Given the description of an element on the screen output the (x, y) to click on. 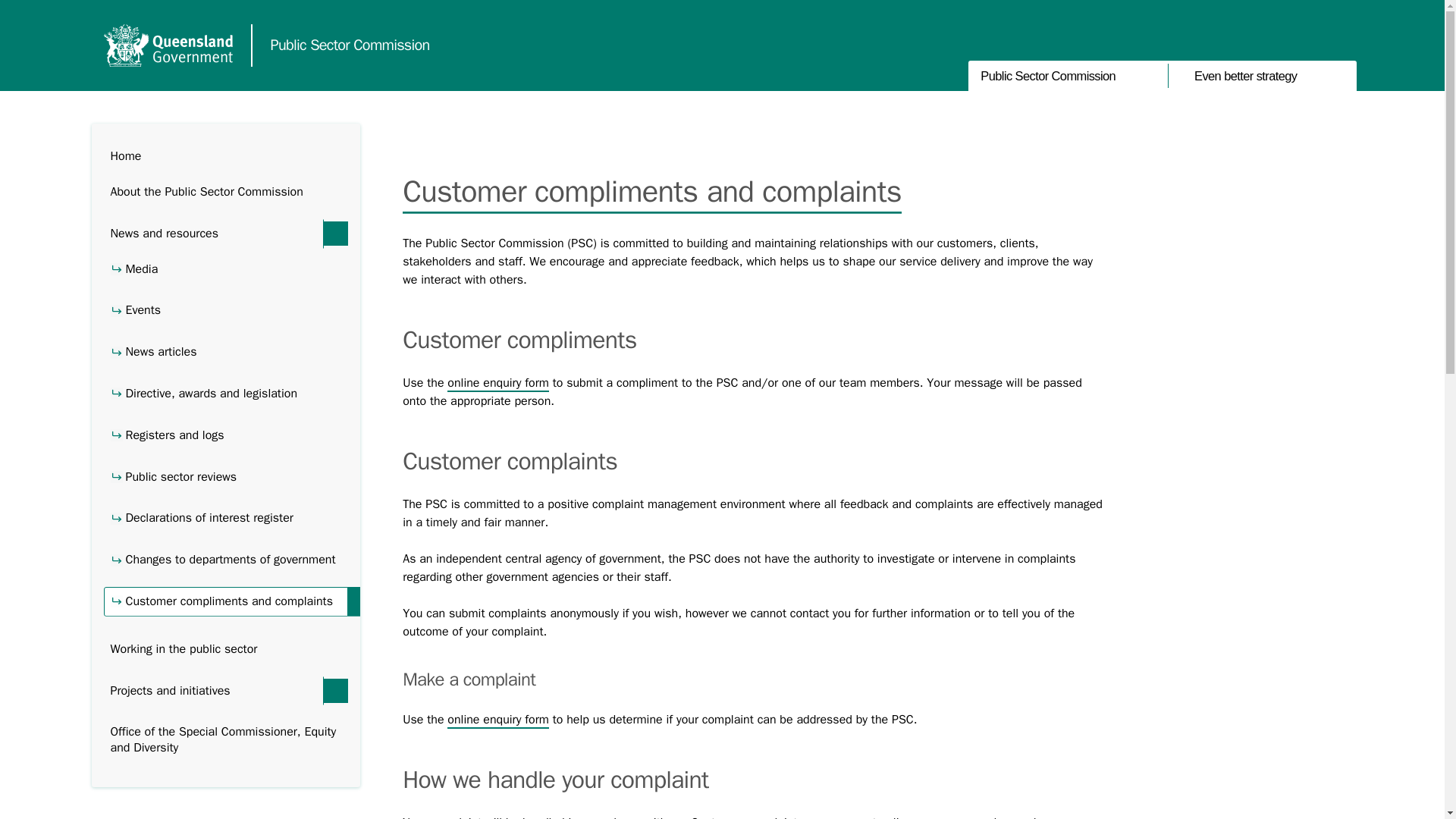
About the Public Sector Commission (225, 192)
Customer compliments and complaints (225, 601)
Changes to departments of government (225, 559)
Media (225, 269)
Declarations of interest register (225, 518)
Directive, awards and legislation (225, 393)
Even better strategy (1261, 75)
Public Sector Commission (349, 45)
Home (225, 156)
